Given the description of an element on the screen output the (x, y) to click on. 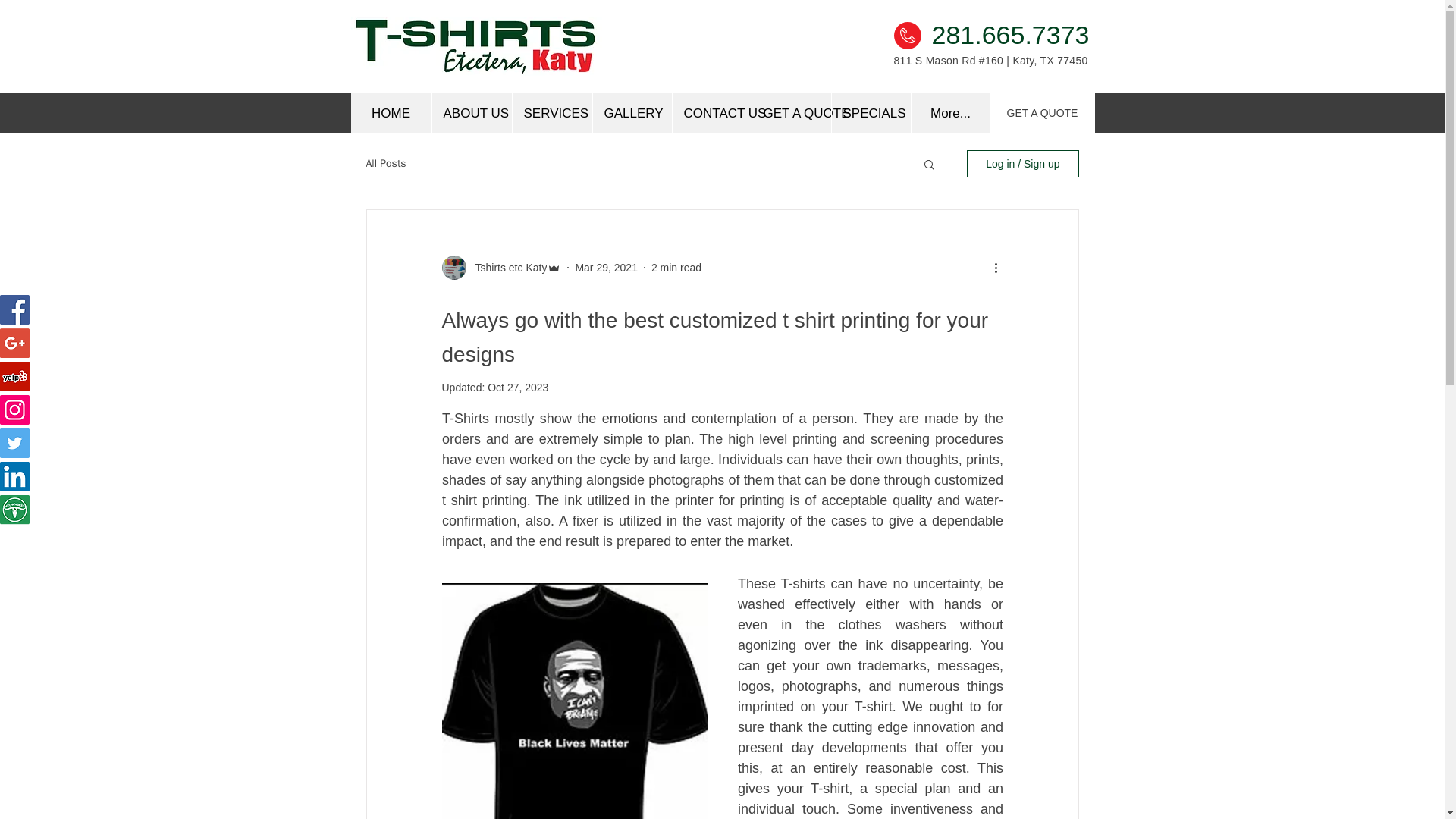
2 min read (675, 266)
Tshirts etc Katy  (506, 267)
Mar 29, 2021 (606, 266)
HOME (390, 113)
SPECIALS (871, 113)
281.665.7373 (1010, 34)
ABOUT US (470, 113)
CONTACT US (711, 113)
SERVICES (551, 113)
GALLERY (631, 113)
Oct 27, 2023 (517, 387)
GET A QUOTE (790, 113)
GET A QUOTE (1042, 113)
All Posts (385, 163)
